Given the description of an element on the screen output the (x, y) to click on. 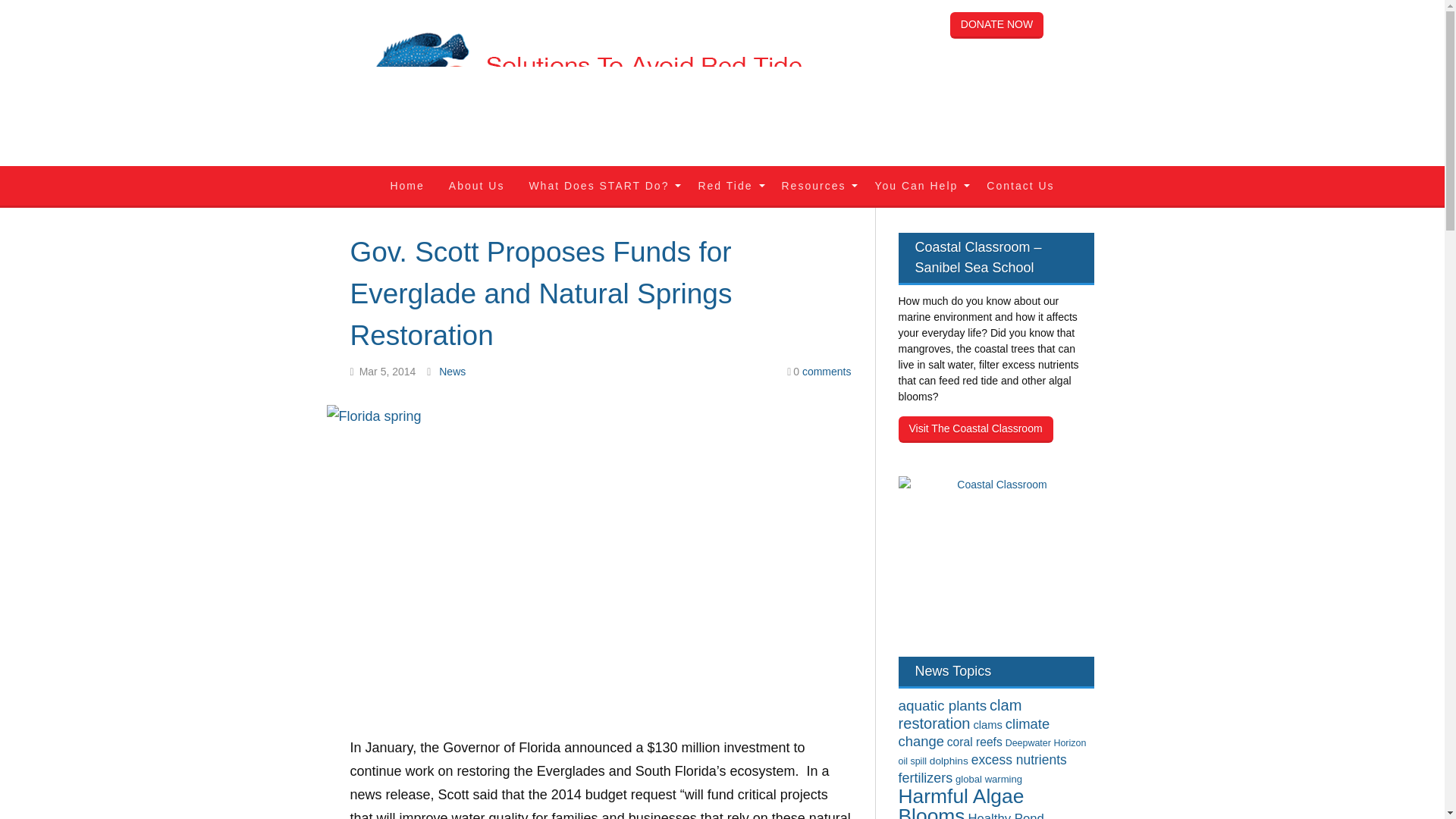
You Can Help (917, 185)
excess nutrients (1019, 759)
DONATE NOW (996, 25)
Resources (814, 185)
dolphins (949, 760)
0 comments (818, 371)
News (452, 371)
What Does START Do? (600, 185)
Deepwater Horizon oil spill (992, 751)
Healthy Pond Collaborative (970, 815)
fertilizers (925, 777)
clam restoration (960, 714)
Volunteer Work In Florida (917, 185)
climate change (973, 732)
Contact Us (1019, 185)
